Given the description of an element on the screen output the (x, y) to click on. 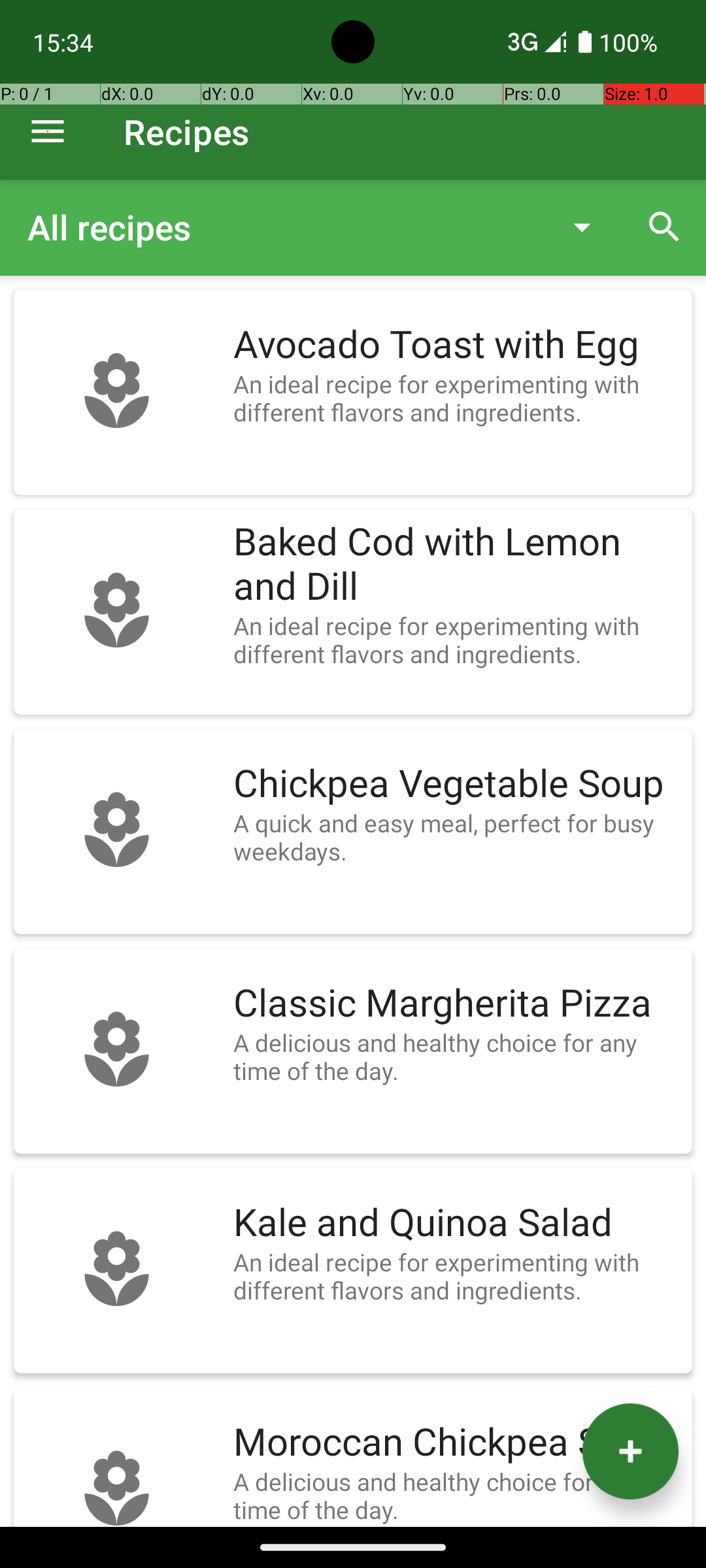
New Recipe Element type: android.widget.ImageButton (630, 1451)
All recipes Element type: android.widget.TextView (283, 226)
Avocado Toast with Egg Element type: android.widget.TextView (455, 344)
An ideal recipe for experimenting with different flavors and ingredients. Element type: android.widget.TextView (455, 397)
Baked Cod with Lemon and Dill Element type: android.widget.TextView (455, 564)
Chickpea Vegetable Soup Element type: android.widget.TextView (455, 783)
A quick and easy meal, perfect for busy weekdays. Element type: android.widget.TextView (455, 836)
Classic Margherita Pizza Element type: android.widget.TextView (455, 1003)
A delicious and healthy choice for any time of the day. Element type: android.widget.TextView (455, 1056)
Kale and Quinoa Salad Element type: android.widget.TextView (455, 1222)
Moroccan Chickpea Stew Element type: android.widget.TextView (455, 1442)
